Given the description of an element on the screen output the (x, y) to click on. 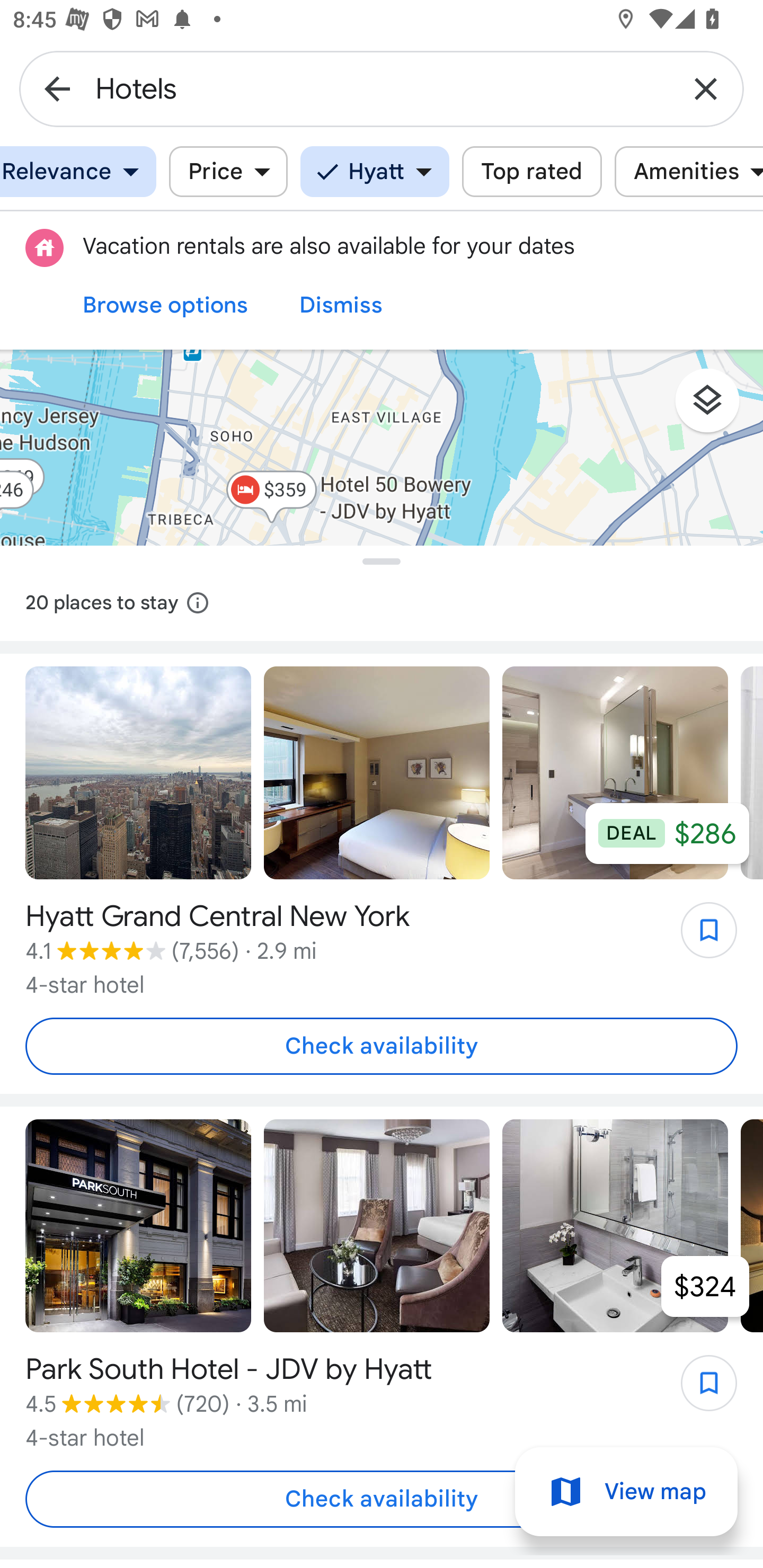
Back (57, 88)
Hotels (381, 88)
Clear (705, 88)
Relevance (78, 171)
Price Price Price (228, 171)
Hyatt Hyatt Hyatt (374, 171)
Top rated Top rated Top rated (532, 171)
Amenities Amenities Amenities (688, 171)
Browse options (165, 304)
Dismiss (340, 304)
Layers (716, 406)
20 places to stay (381, 602)
Photo (138, 772)
Photo (376, 772)
Photo (614, 772)
DEAL $286 $286 at Hyatt Grand Central New York (667, 833)
Save Hyatt Grand Central New York to lists (699, 936)
Photo (138, 1225)
Photo (376, 1225)
Photo (614, 1225)
$324 $324 at Park South Hotel - JDV by Hyatt (704, 1286)
Save Park South Hotel - JDV by Hyatt to lists (699, 1388)
View map Map view (626, 1491)
